Given the description of an element on the screen output the (x, y) to click on. 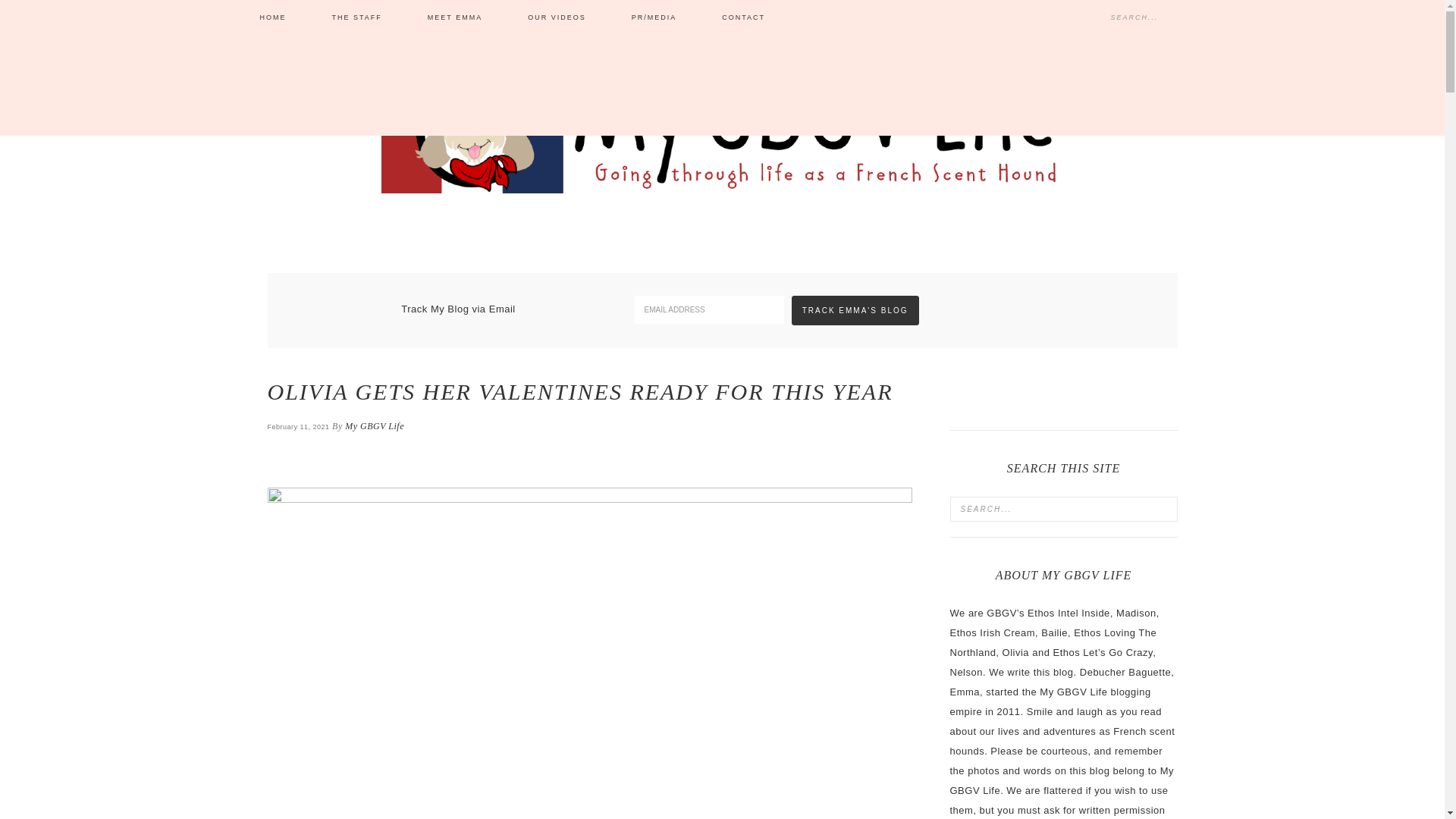
Track Emma's Blog (855, 310)
MY GBGV LIFE (721, 130)
My GBGV Life (374, 425)
MEET EMMA (454, 18)
Track Emma's Blog (855, 310)
CONTACT (742, 18)
OUR VIDEOS (556, 18)
HOME (271, 18)
THE STAFF (356, 18)
